Given the description of an element on the screen output the (x, y) to click on. 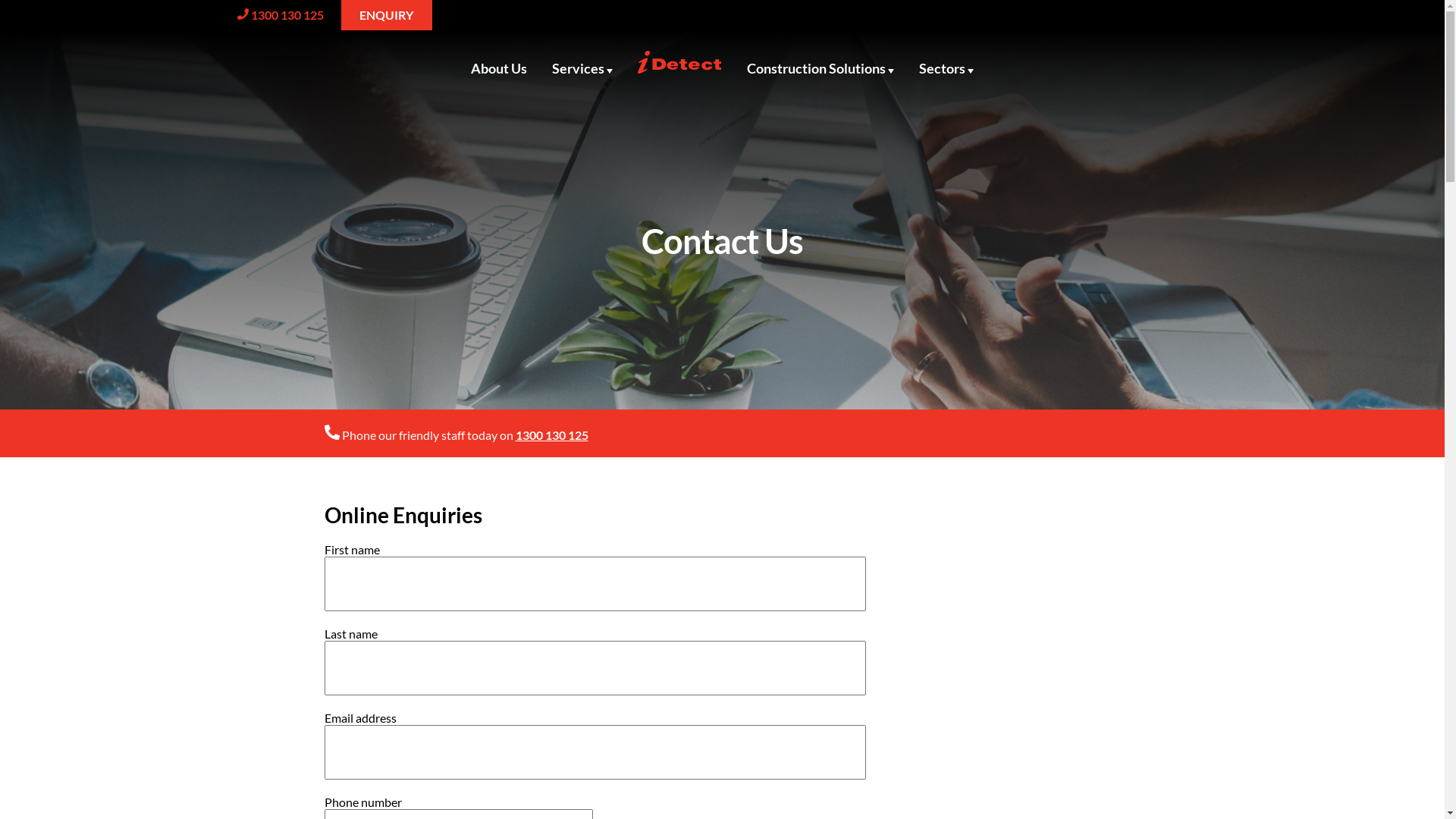
1300 130 125 Element type: text (286, 14)
1300 130 125 Element type: text (551, 434)
Services Element type: text (582, 67)
Construction Solutions Element type: text (820, 67)
About Us Element type: text (498, 67)
ENQUIRY Element type: text (386, 14)
Sectors Element type: text (946, 67)
